Given the description of an element on the screen output the (x, y) to click on. 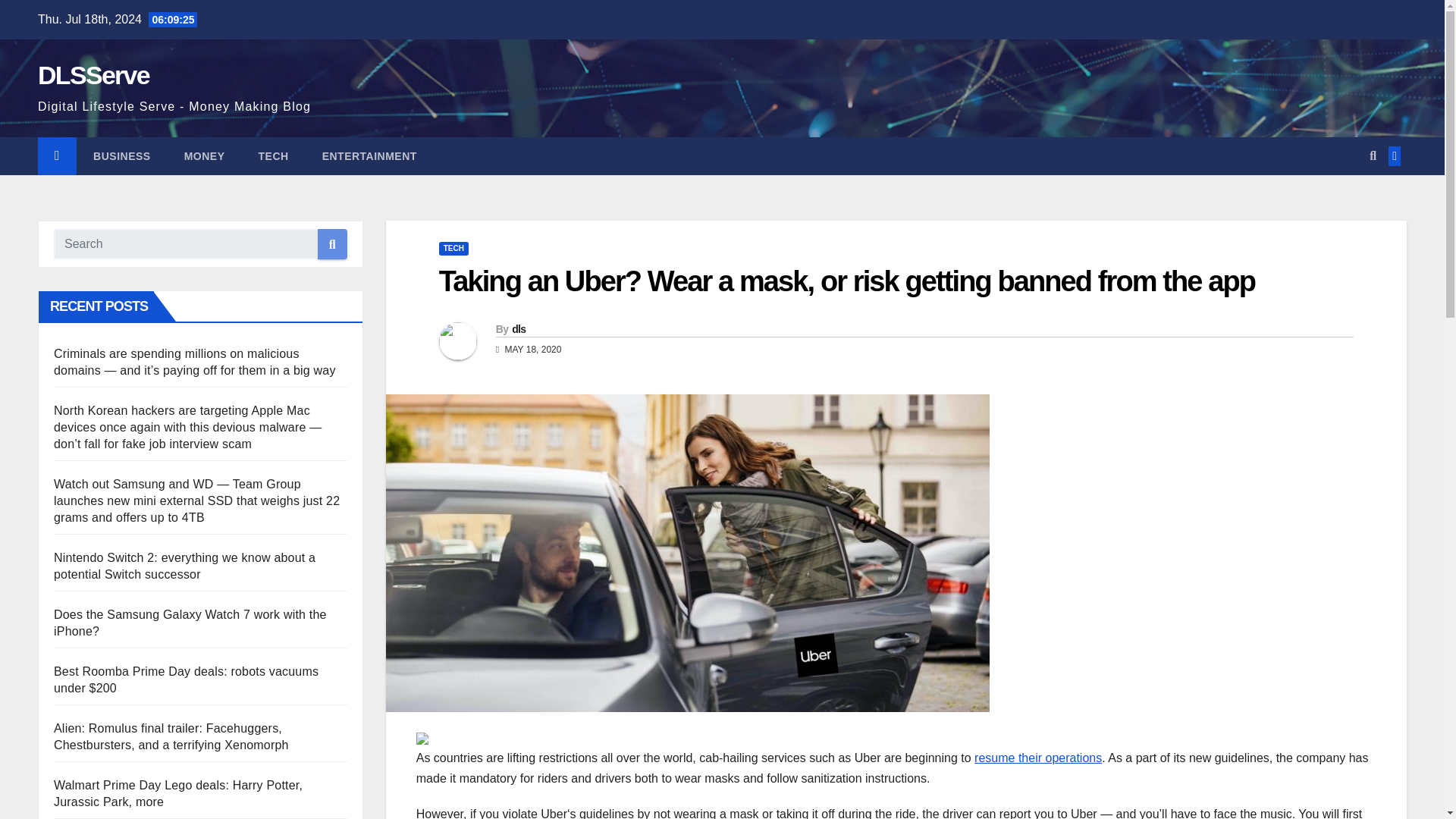
ENTERTAINMENT (369, 156)
business (122, 156)
Entertainment (369, 156)
Money (204, 156)
Does the Samsung Galaxy Watch 7 work with the iPhone? (189, 623)
DLSServe (93, 74)
Tech (272, 156)
BUSINESS (122, 156)
MONEY (204, 156)
TECH (272, 156)
